Given the description of an element on the screen output the (x, y) to click on. 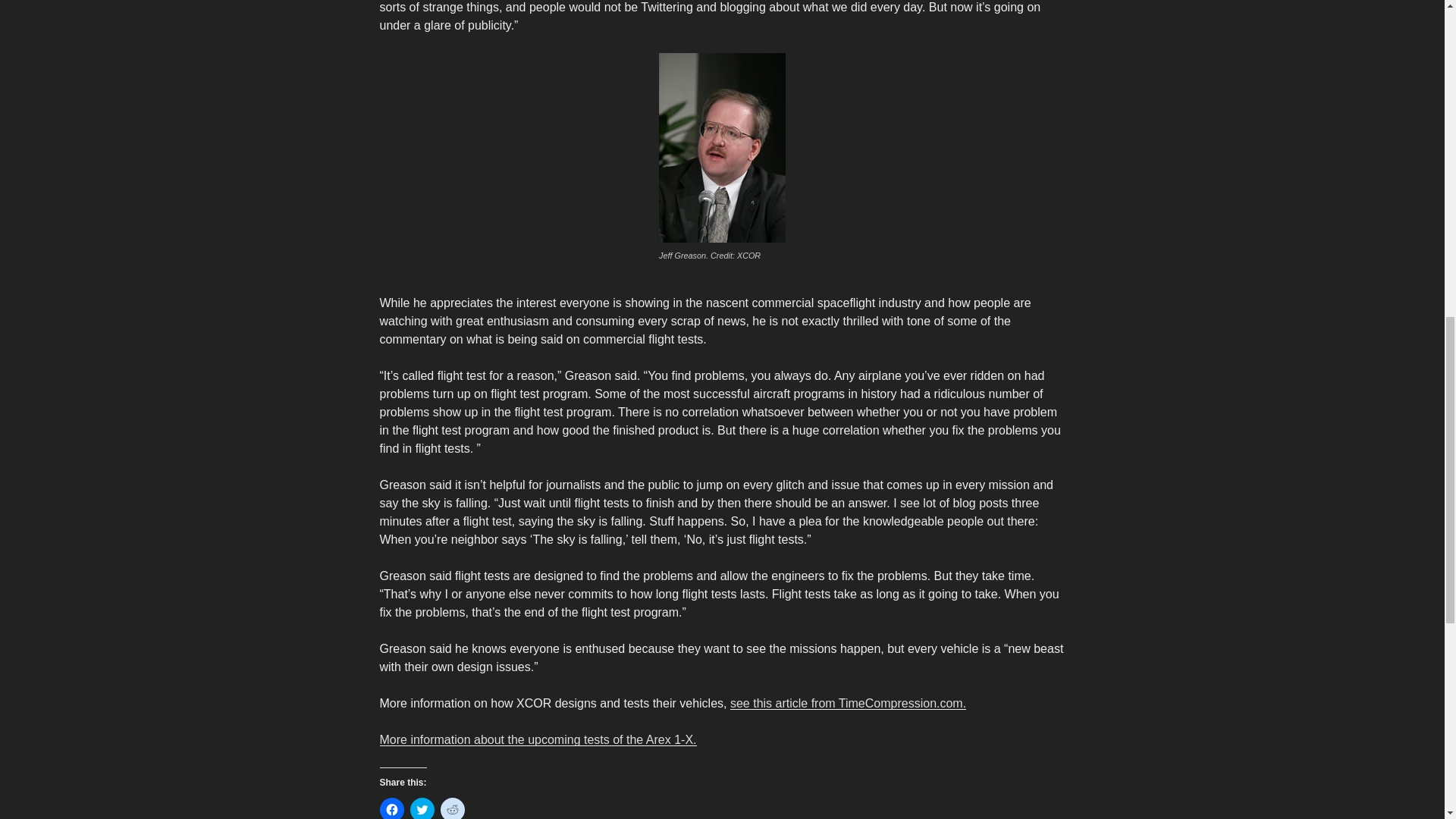
More information about the upcoming tests of the Arex 1-X. (536, 739)
Click to share on Facebook (390, 808)
Click to share on Twitter (421, 808)
see this article from TimeCompression.com. (848, 703)
Click to share on Reddit (451, 808)
